Given the description of an element on the screen output the (x, y) to click on. 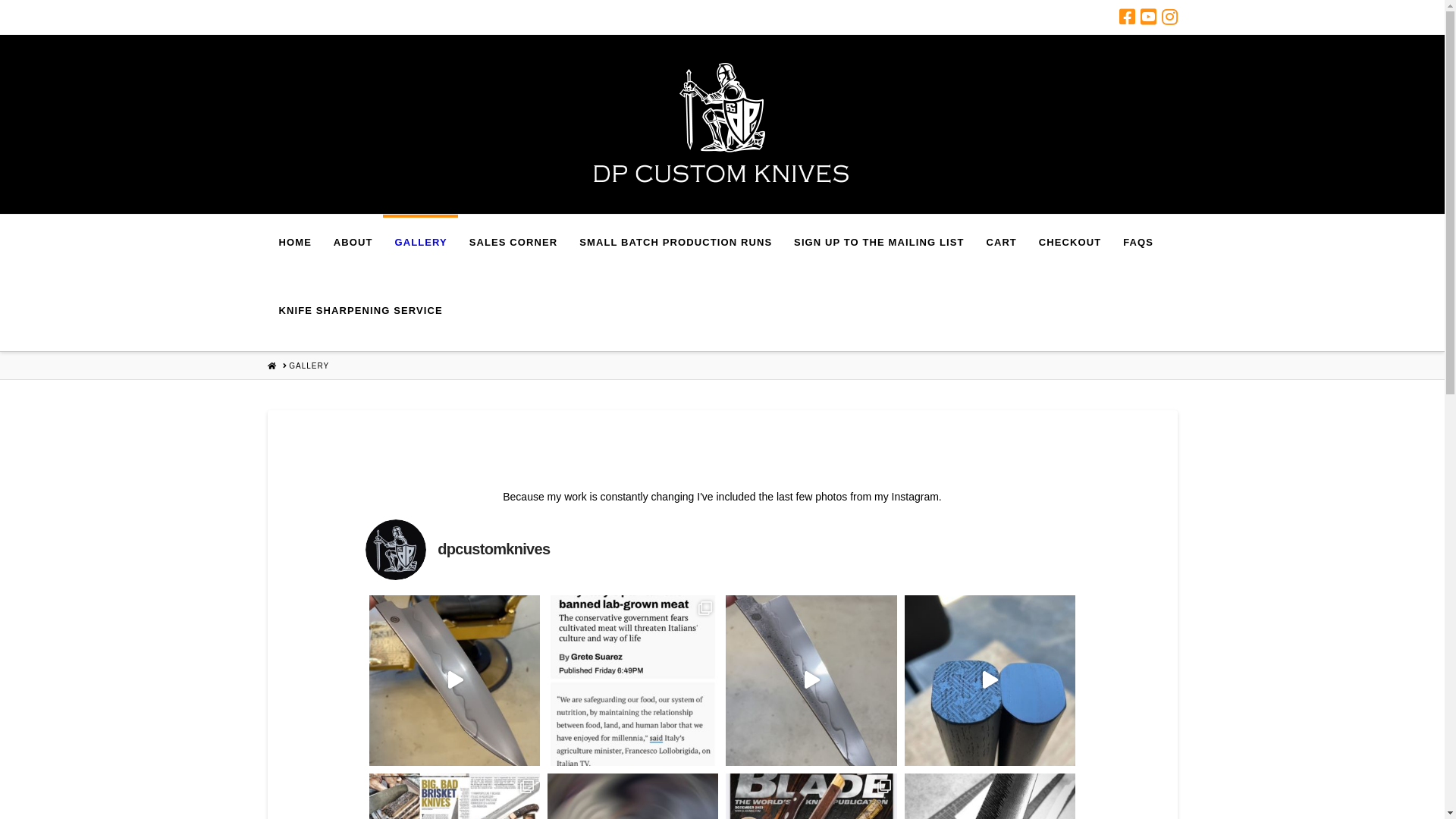
YouTube Element type: hover (1148, 16)
SMALL BATCH PRODUCTION RUNS Element type: text (674, 248)
SALES CORNER Element type: text (512, 248)
KNIFE SHARPENING SERVICE Element type: text (359, 316)
CHECKOUT Element type: text (1069, 248)
FAQS Element type: text (1137, 248)
ABOUT Element type: text (352, 248)
HOME Element type: text (271, 364)
GALLERY Element type: text (308, 365)
HOME Element type: text (293, 248)
dpcustomknives Element type: text (721, 549)
GALLERY Element type: text (419, 248)
Facebook Element type: hover (1127, 16)
SIGN UP TO THE MAILING LIST Element type: text (878, 248)
Instagram Element type: hover (1169, 16)
CART Element type: text (1000, 248)
